Given the description of an element on the screen output the (x, y) to click on. 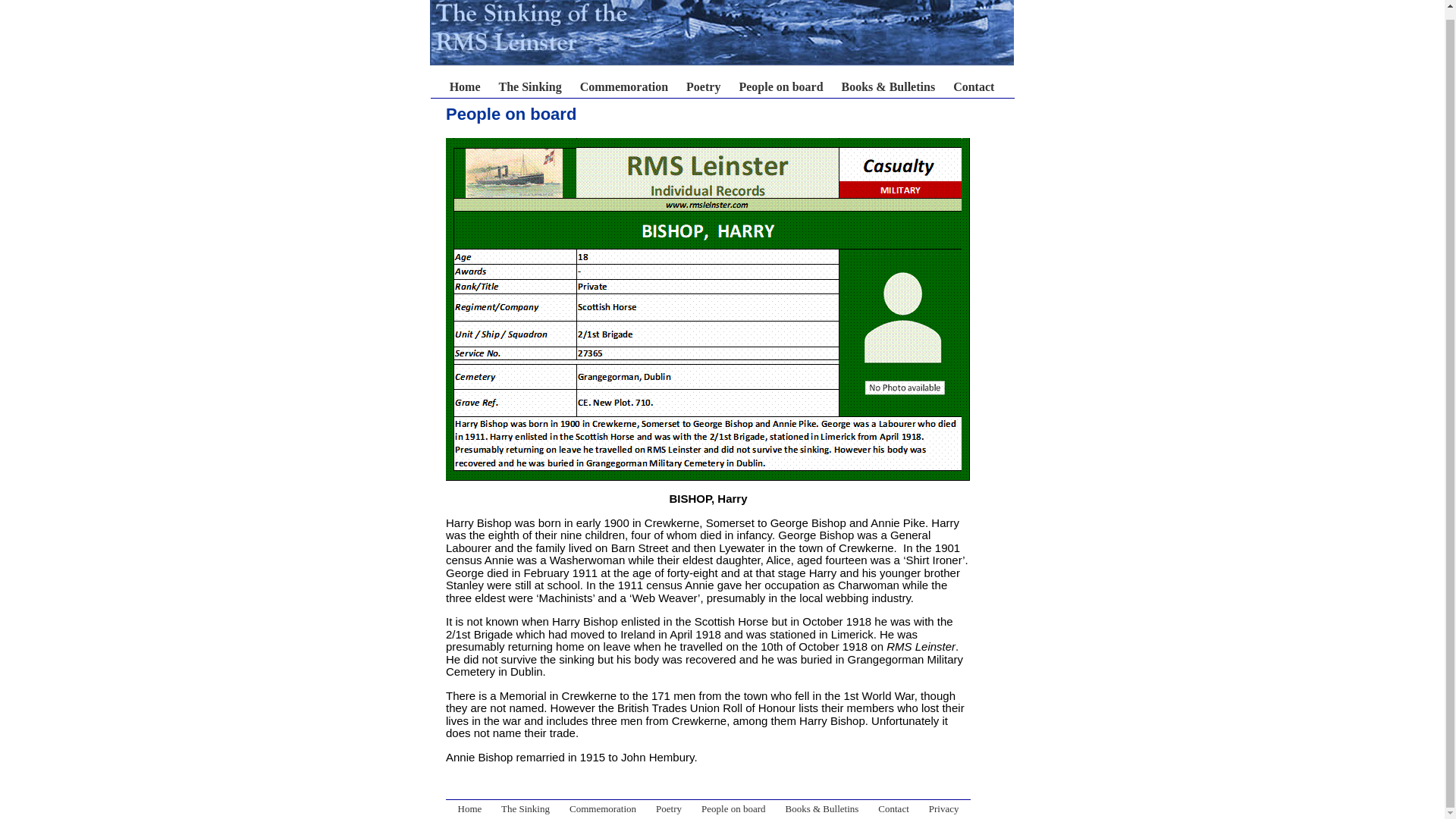
Contact (973, 86)
Home (585, 93)
Contact (892, 808)
People on board (780, 86)
Poetry (702, 86)
The Sinking (530, 86)
Home (469, 808)
Commemoration (623, 86)
Commemoration (602, 808)
Privacy (943, 808)
